Given the description of an element on the screen output the (x, y) to click on. 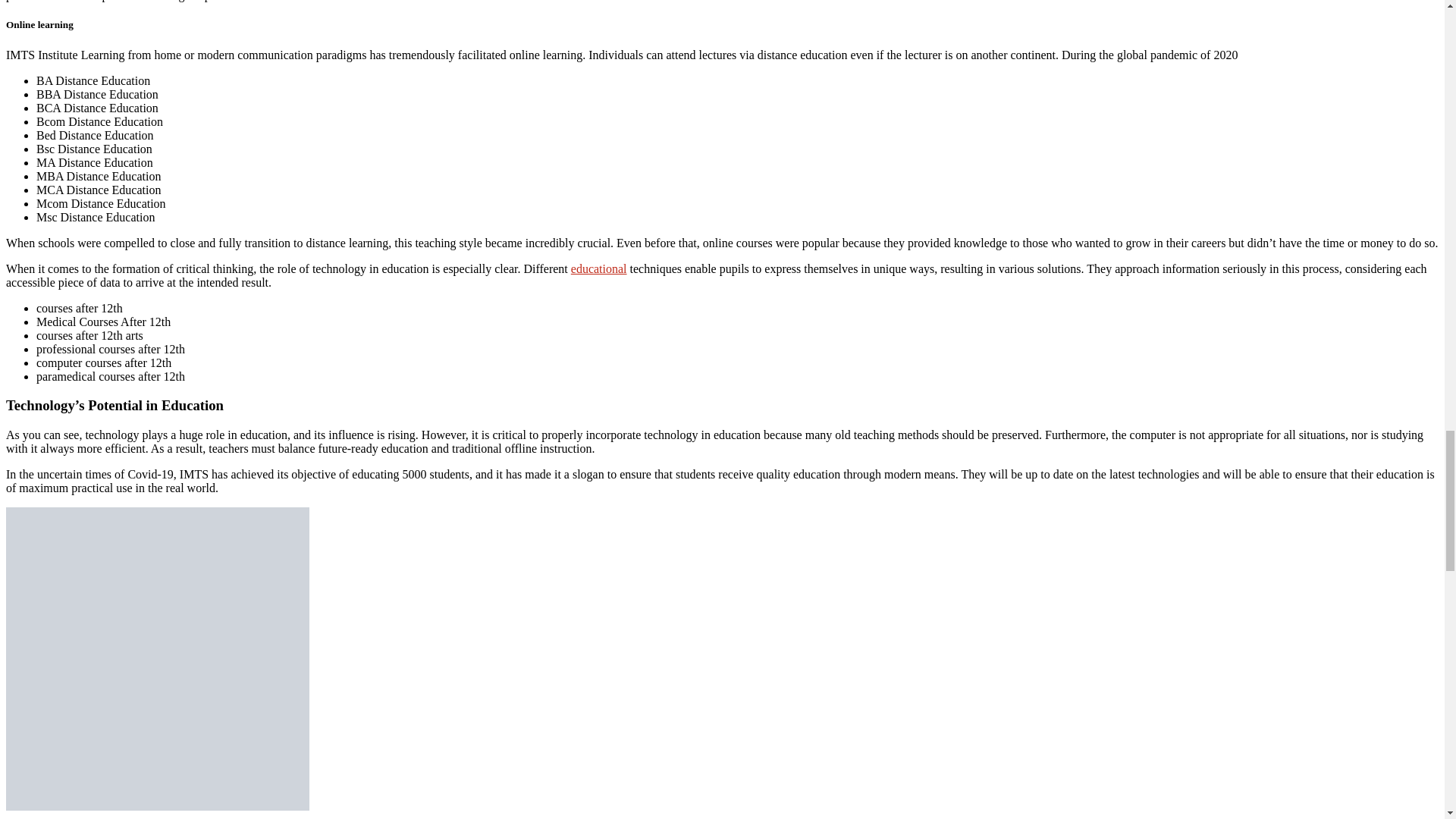
educational (598, 268)
